Given the description of an element on the screen output the (x, y) to click on. 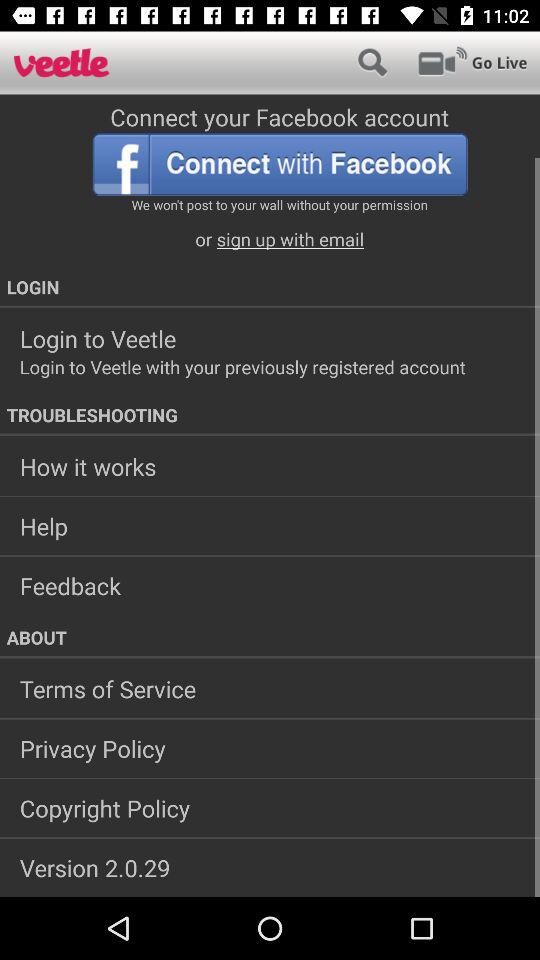
click the icon below troubleshooting (270, 466)
